Given the description of an element on the screen output the (x, y) to click on. 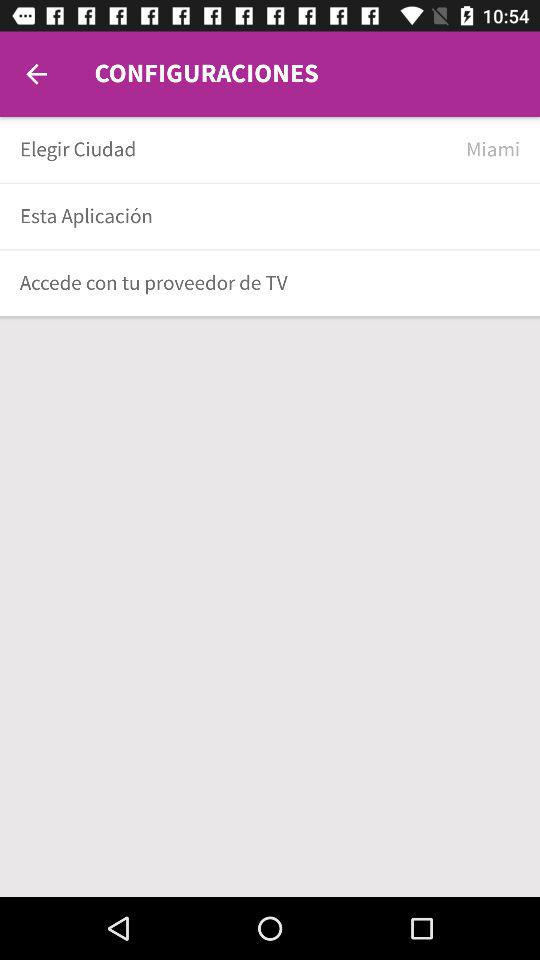
return to previous (36, 74)
